Given the description of an element on the screen output the (x, y) to click on. 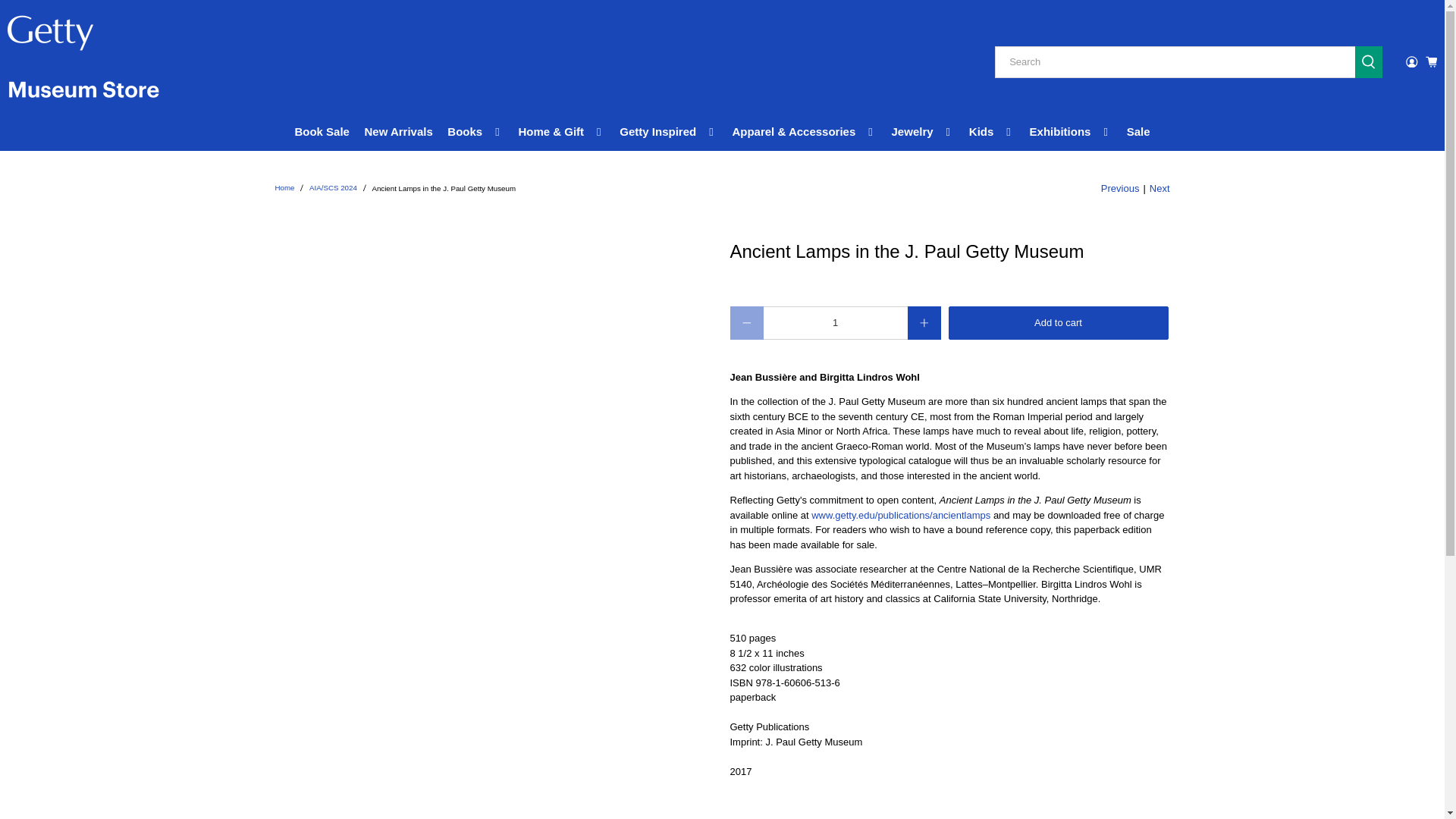
Ancient Lamps in the J. Paul Getty Museum (900, 514)
Next (1160, 187)
Previous (1120, 187)
Getty Inspired (668, 131)
New Arrivals (398, 131)
Books (476, 131)
1 (834, 322)
Book Sale (321, 131)
Getty Museum Store (284, 187)
Getty Museum Store (82, 61)
